Given the description of an element on the screen output the (x, y) to click on. 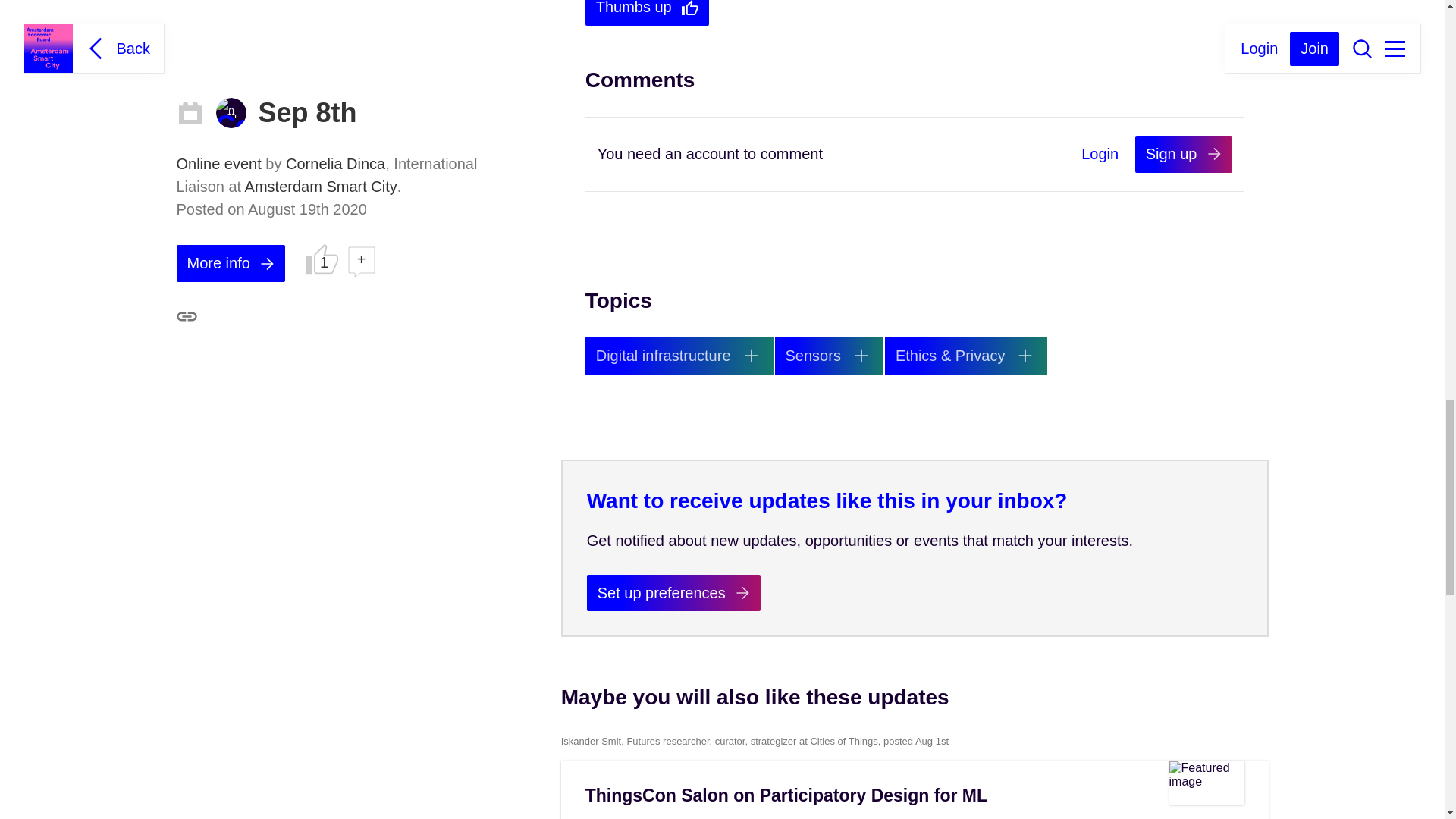
View updates (965, 355)
Login (1099, 154)
Sign up (1183, 153)
View updates (828, 355)
ThingsCon Salon on Participatory Design for ML (786, 795)
Login (1099, 154)
Thumbs up (647, 12)
View updates (679, 355)
Follow (1024, 355)
Sensors (828, 355)
